Given the description of an element on the screen output the (x, y) to click on. 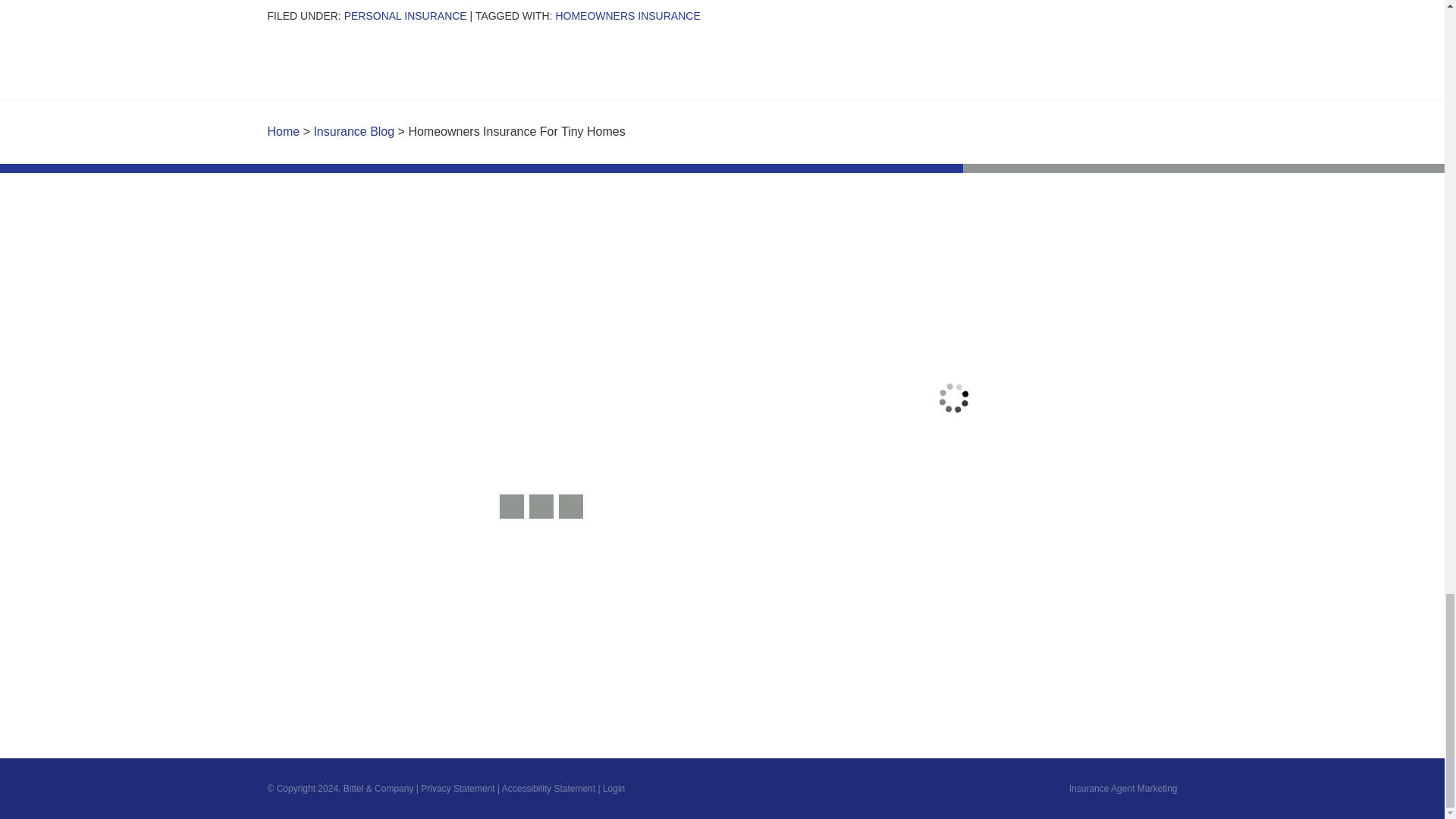
Yelp (541, 506)
Facebook (571, 506)
Homeowners Insurance (627, 15)
Personal Insurance (405, 15)
Google Maps (511, 506)
